Given the description of an element on the screen output the (x, y) to click on. 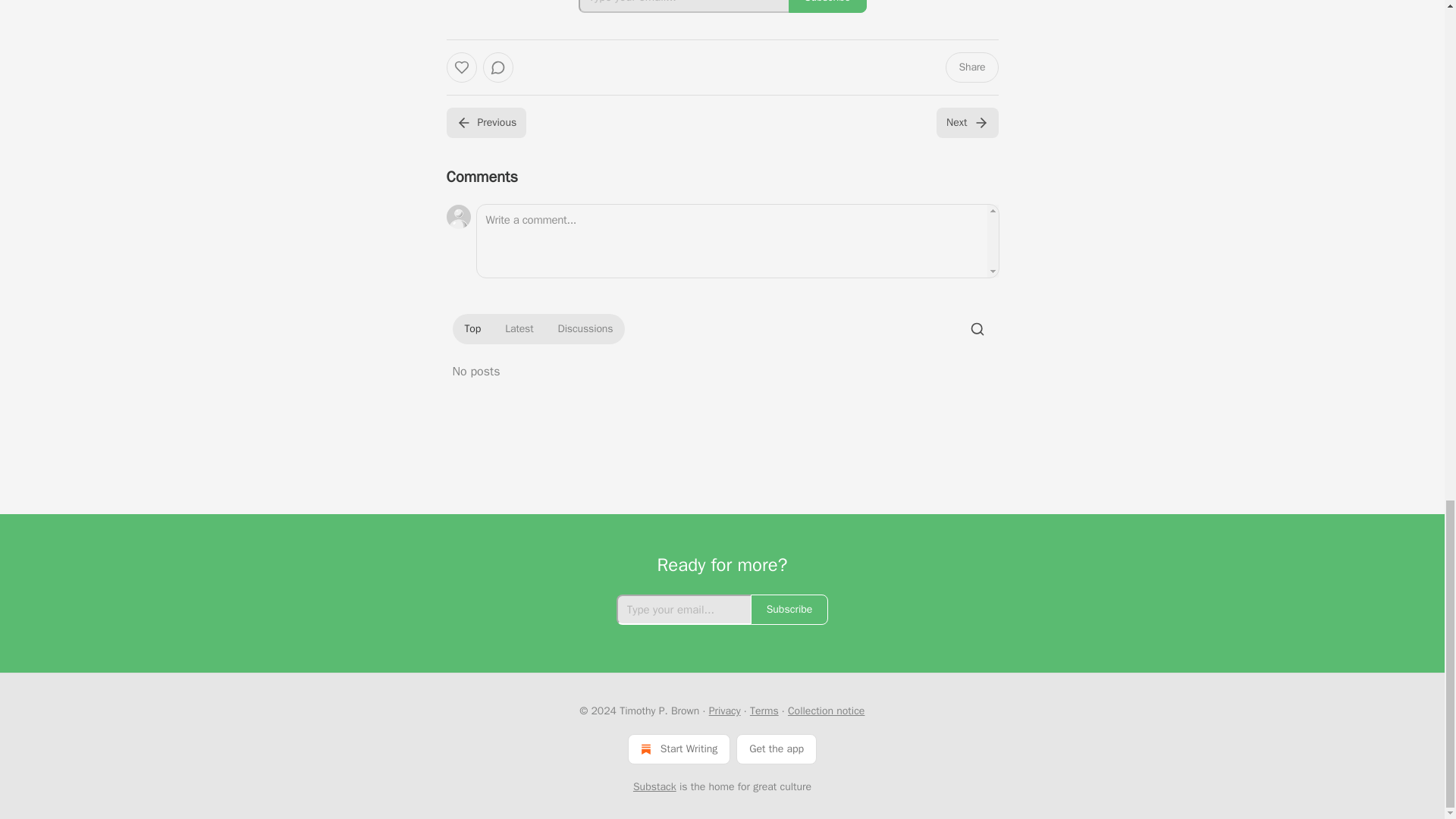
Top (471, 328)
Share (970, 67)
Subscribe (827, 6)
Previous (485, 122)
Next (966, 122)
